Given the description of an element on the screen output the (x, y) to click on. 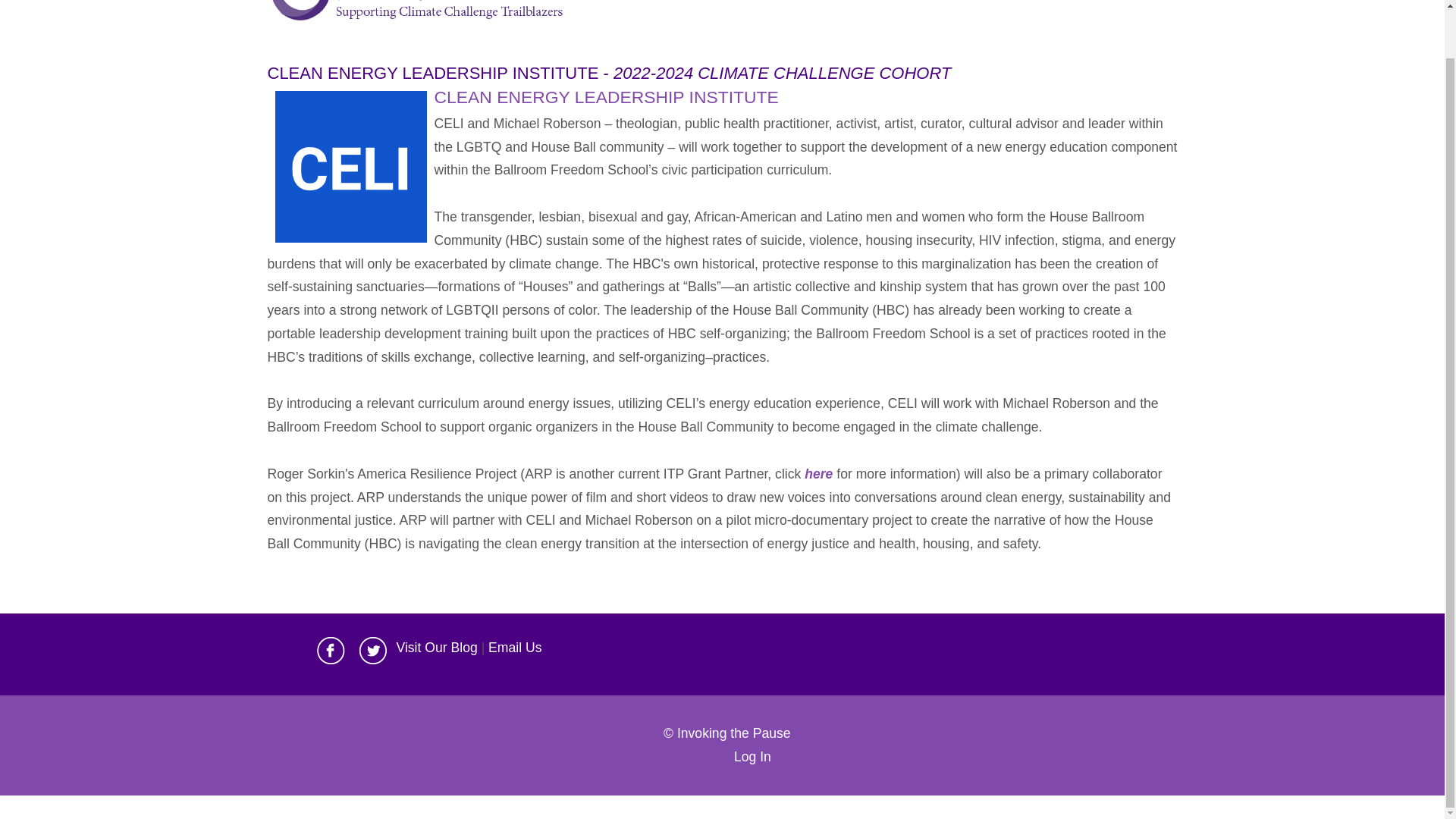
GRANTS (839, 3)
2022-24 COHORT (756, 3)
APPROACH (623, 3)
TEAM (682, 3)
HAPPENINGS (912, 3)
GATHERINGS (999, 3)
